Given the description of an element on the screen output the (x, y) to click on. 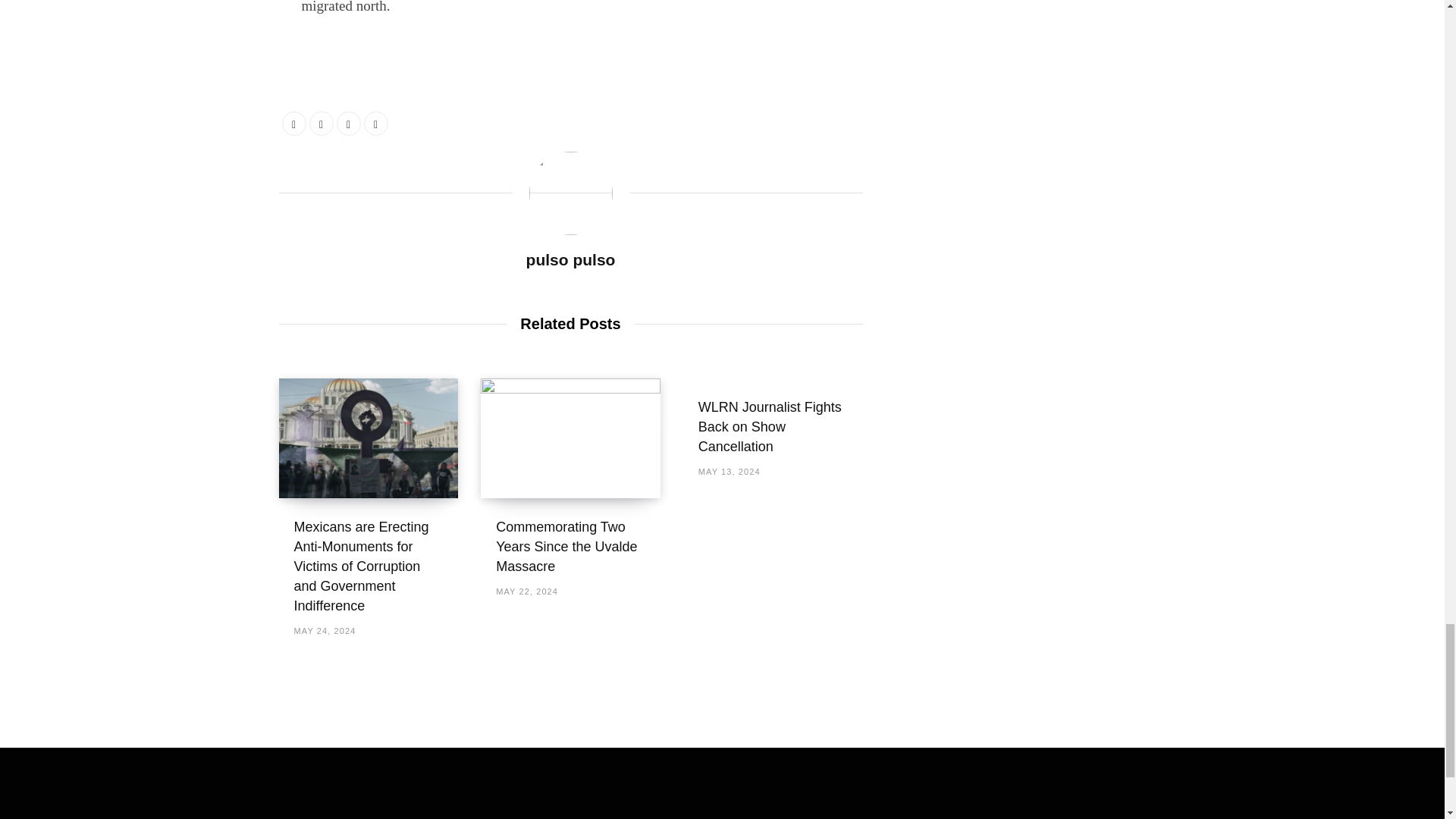
pulso pulso (570, 259)
WLRN Journalist Fights Back on Show Cancellation (769, 426)
LinkedIn (348, 123)
Commemorating Two Years Since the Uvalde Massacre (566, 546)
Posts by pulso pulso (570, 259)
Facebook (293, 123)
Pinterest (376, 123)
Twitter (320, 123)
